Given the description of an element on the screen output the (x, y) to click on. 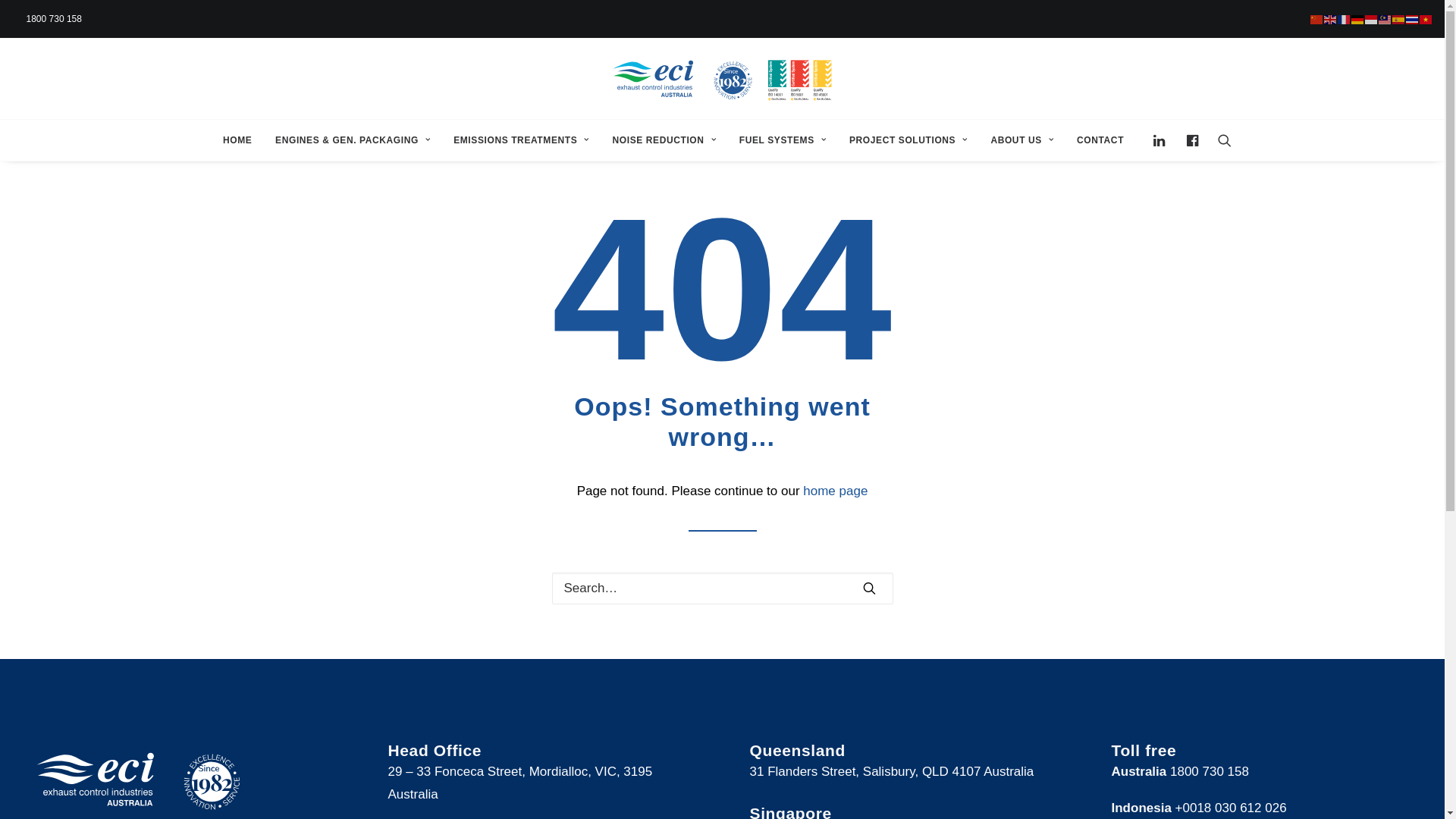
Bahasa Melayu Element type: hover (1385, 18)
PROJECT SOLUTIONS Element type: text (908, 139)
Search for: Element type: hover (722, 588)
Deutsch Element type: hover (1358, 18)
NOISE REDUCTION Element type: text (664, 139)
home page Element type: text (835, 490)
EMISSIONS TREATMENTS Element type: text (521, 139)
Bahasa Indonesia Element type: hover (1371, 18)
HOME Element type: text (237, 139)
CONTACT Element type: text (1094, 139)
FUEL SYSTEMS Element type: text (782, 139)
ENGINES & GEN. PACKAGING Element type: text (352, 139)
ABOUT US Element type: text (1021, 139)
English Element type: hover (1330, 18)
